Given the description of an element on the screen output the (x, y) to click on. 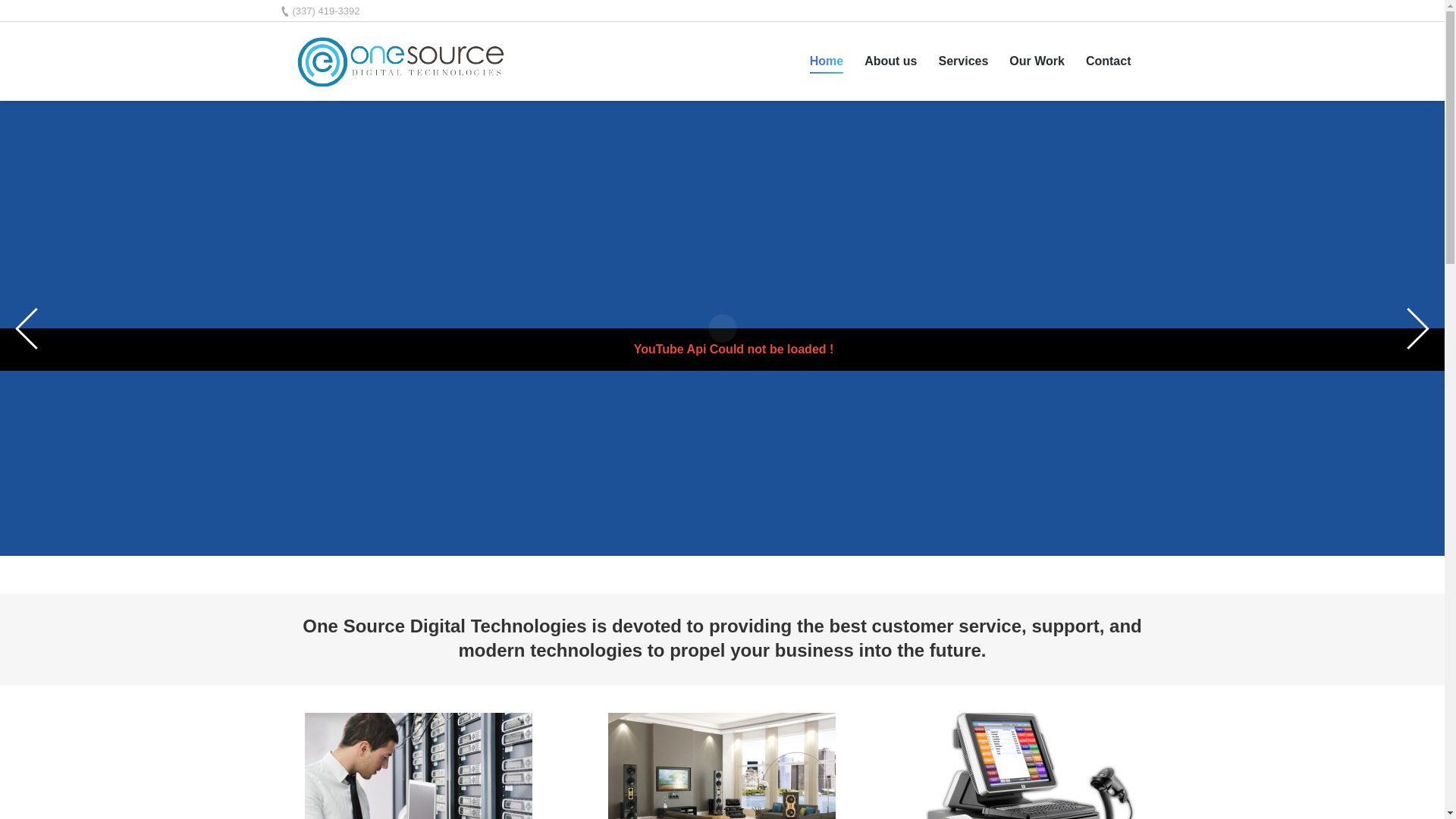
Home (826, 61)
Go! (19, 15)
Contact (1108, 61)
Our Work (1036, 61)
Point of sale system (1024, 765)
About us (890, 61)
Steinway-Lyngdorf-LS-sound-system (721, 765)
Services (962, 61)
